Given the description of an element on the screen output the (x, y) to click on. 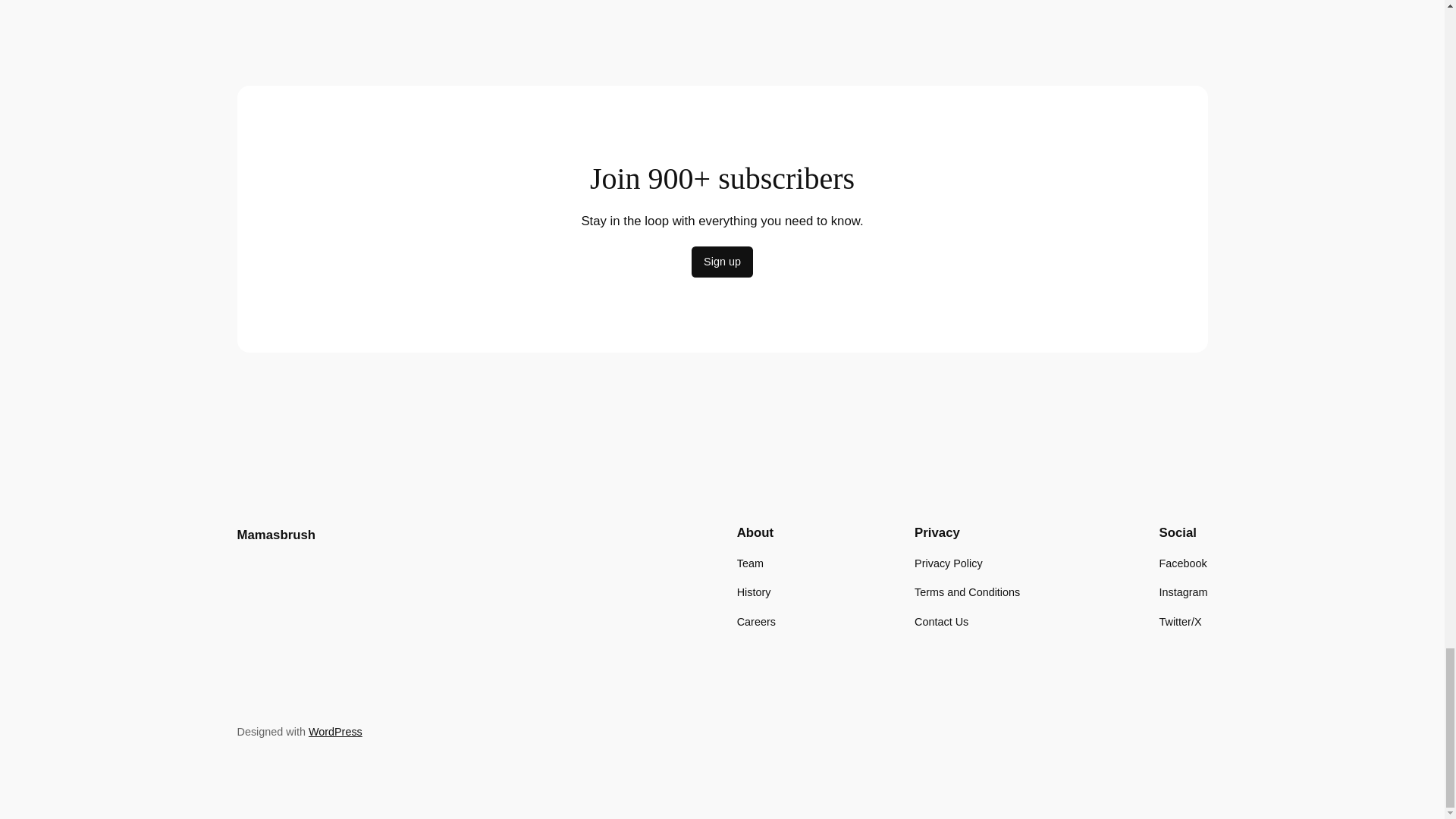
Careers (756, 620)
History (753, 591)
Contact Us (941, 620)
Terms and Conditions (967, 591)
Facebook (1182, 563)
Sign up (721, 262)
Privacy Policy (948, 563)
WordPress (335, 731)
Mamasbrush (275, 534)
Instagram (1182, 591)
Team (749, 563)
